Given the description of an element on the screen output the (x, y) to click on. 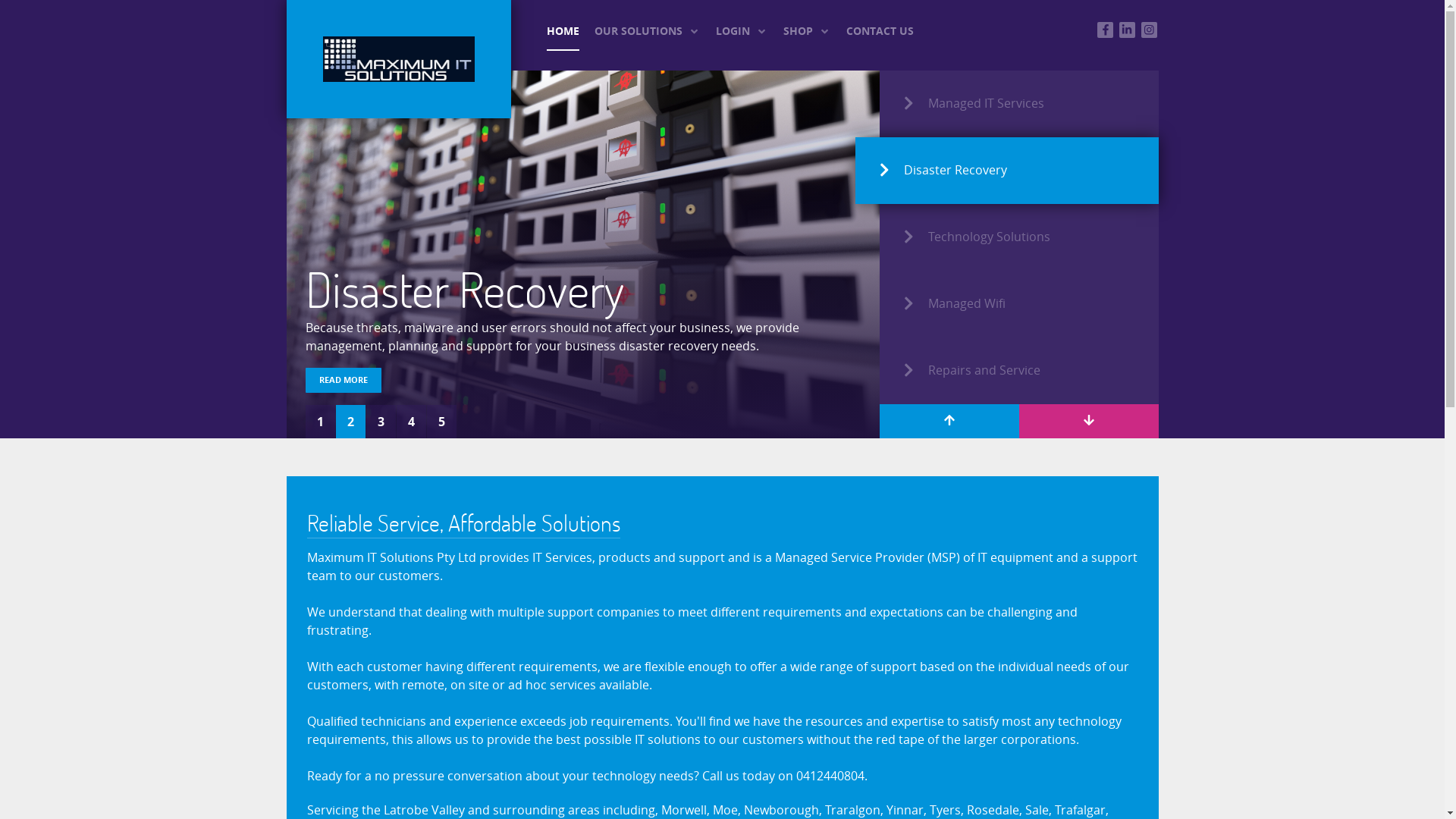
Maximum IT Solutions Element type: hover (398, 59)
CONTACT US Element type: text (879, 30)
Reliable Service, Affordable Solutions Element type: text (462, 522)
READ MORE Element type: text (342, 380)
SHOP Element type: text (806, 30)
HOME Element type: text (562, 30)
